Given the description of an element on the screen output the (x, y) to click on. 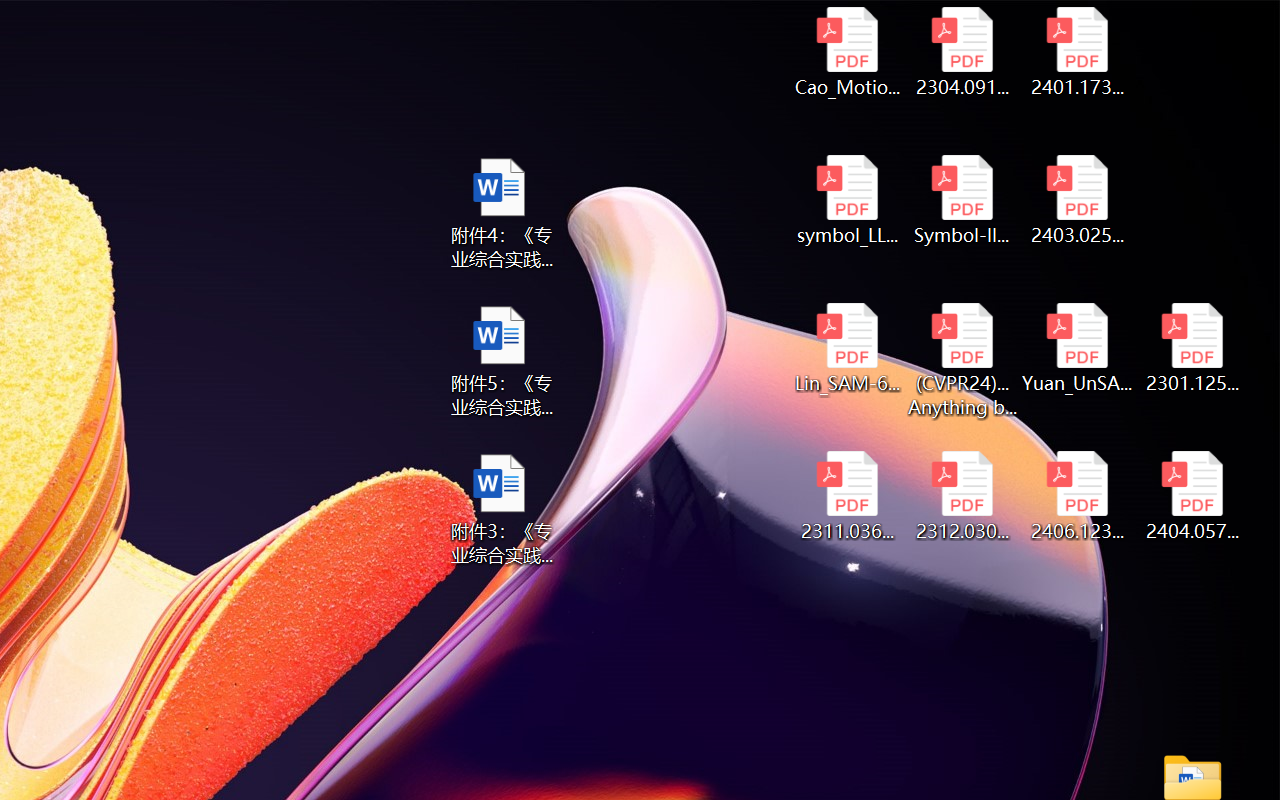
2404.05719v1.pdf (1192, 496)
2304.09121v3.pdf (962, 52)
2301.12597v3.pdf (1192, 348)
(CVPR24)Matching Anything by Segmenting Anything.pdf (962, 360)
2312.03032v2.pdf (962, 496)
Symbol-llm-v2.pdf (962, 200)
2401.17399v1.pdf (1077, 52)
symbol_LLM.pdf (846, 200)
2311.03658v2.pdf (846, 496)
